Given the description of an element on the screen output the (x, y) to click on. 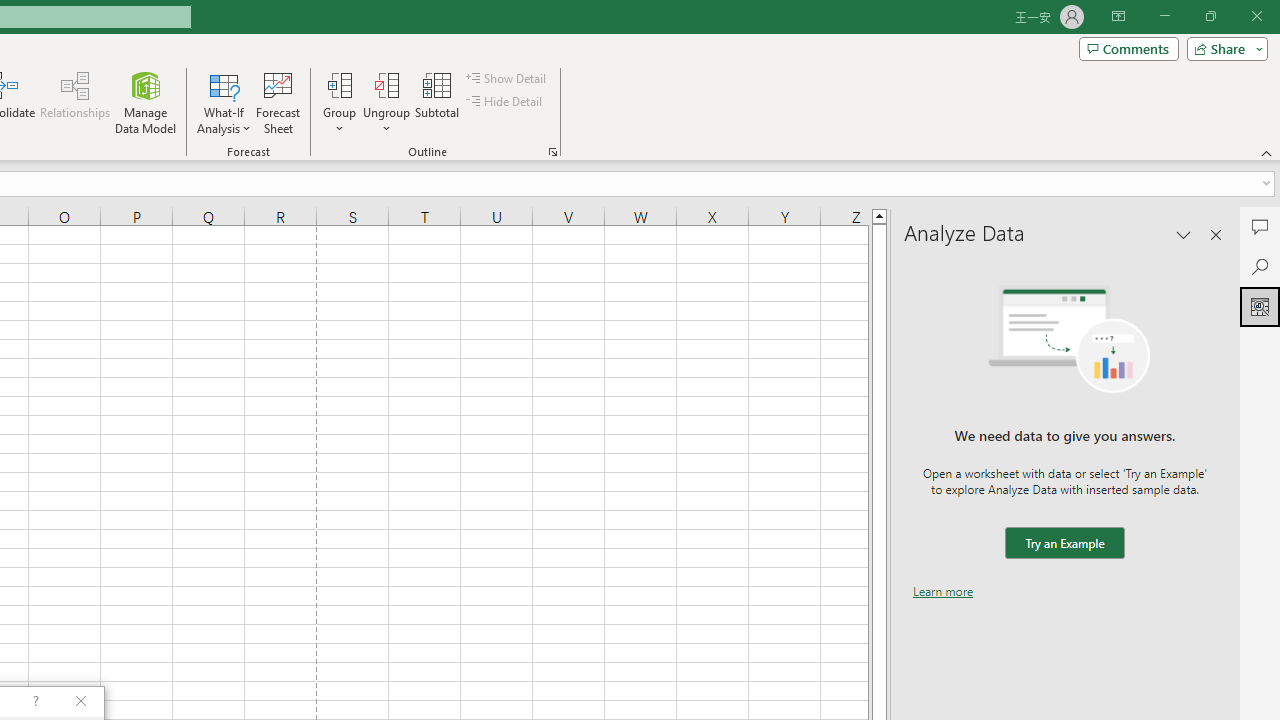
Forecast Sheet (278, 102)
Search (1260, 266)
Hide Detail (505, 101)
What-If Analysis (223, 102)
Show Detail (507, 78)
